Given the description of an element on the screen output the (x, y) to click on. 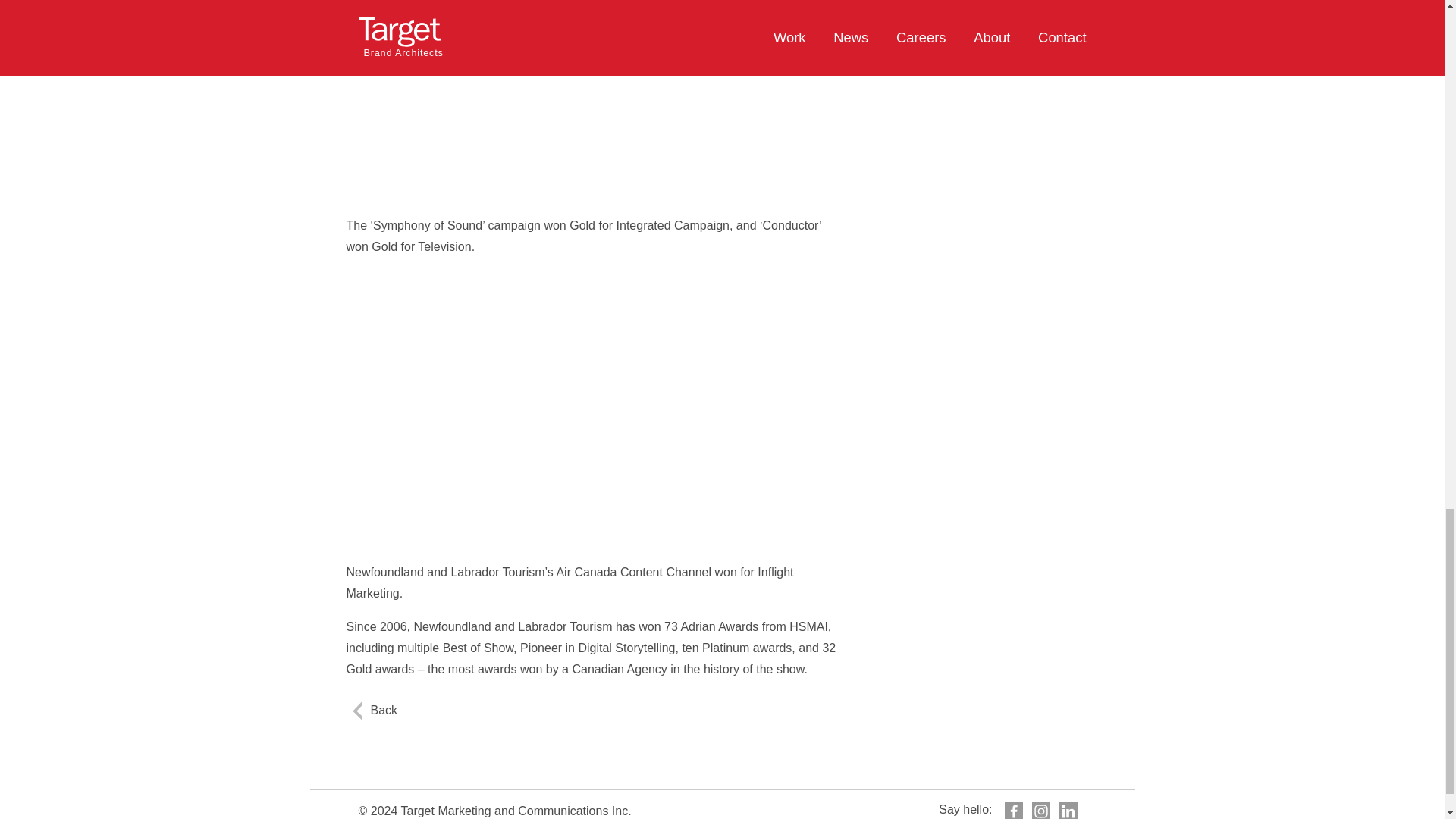
Back (384, 710)
